Given the description of an element on the screen output the (x, y) to click on. 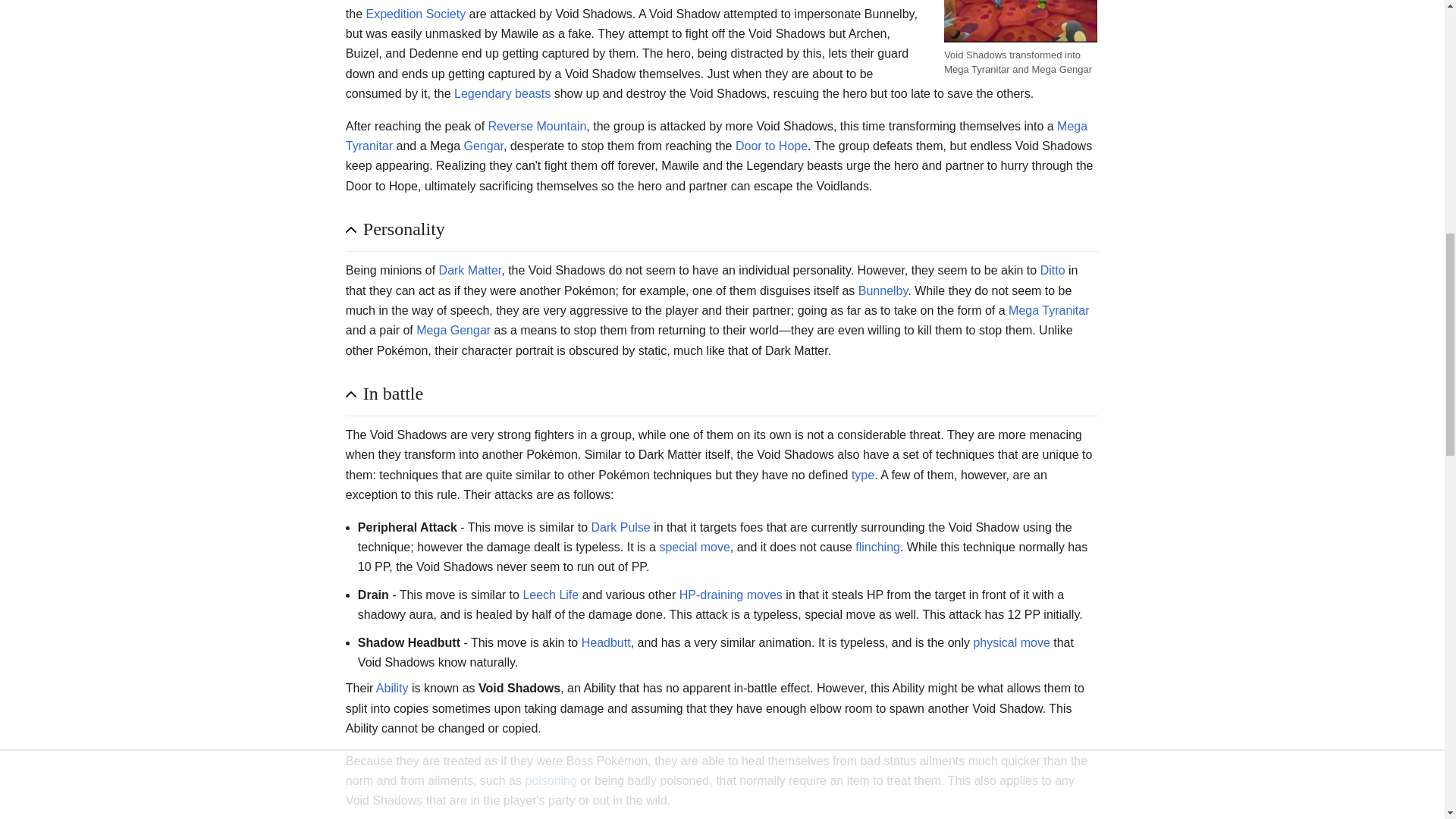
Reverse Mountain (536, 125)
Legendary beasts (502, 92)
Mega (1072, 125)
Expedition Society (415, 13)
